Given the description of an element on the screen output the (x, y) to click on. 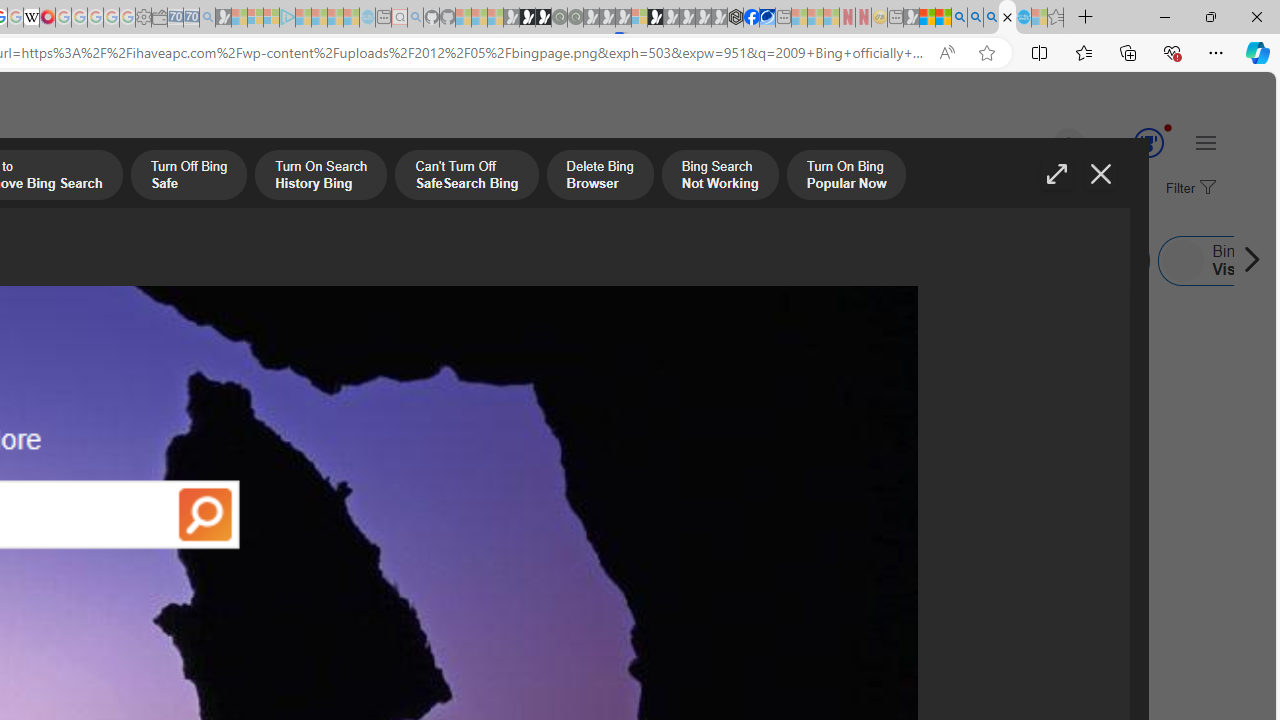
Https Bing Search Q MSN (822, 260)
Animation (1167, 127)
Nordace | Facebook (751, 17)
Https Bing Search Q MSN (889, 260)
MSN Homepage Bing Search Engine (69, 260)
Owner of Bing Search Engine (597, 260)
Settings and quick links (1205, 142)
Eugene (1041, 143)
2009 Bing officially replaced Live Search on June 3 - Search (975, 17)
